Given the description of an element on the screen output the (x, y) to click on. 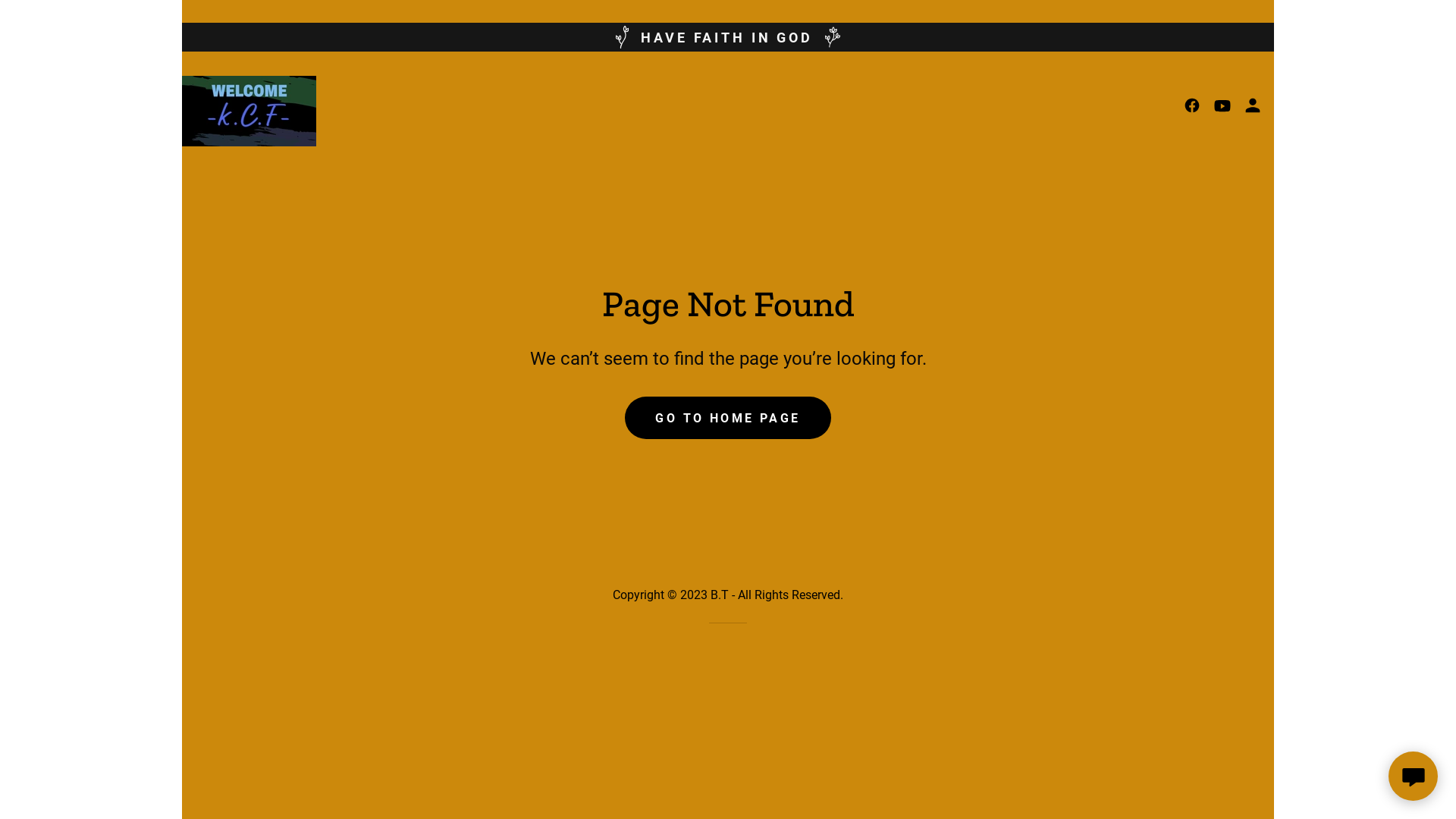
Kingaroy Christian Fellowship Element type: hover (249, 109)
HAVE FAITH IN GOD Element type: text (728, 36)
GO TO HOME PAGE Element type: text (727, 417)
